Given the description of an element on the screen output the (x, y) to click on. 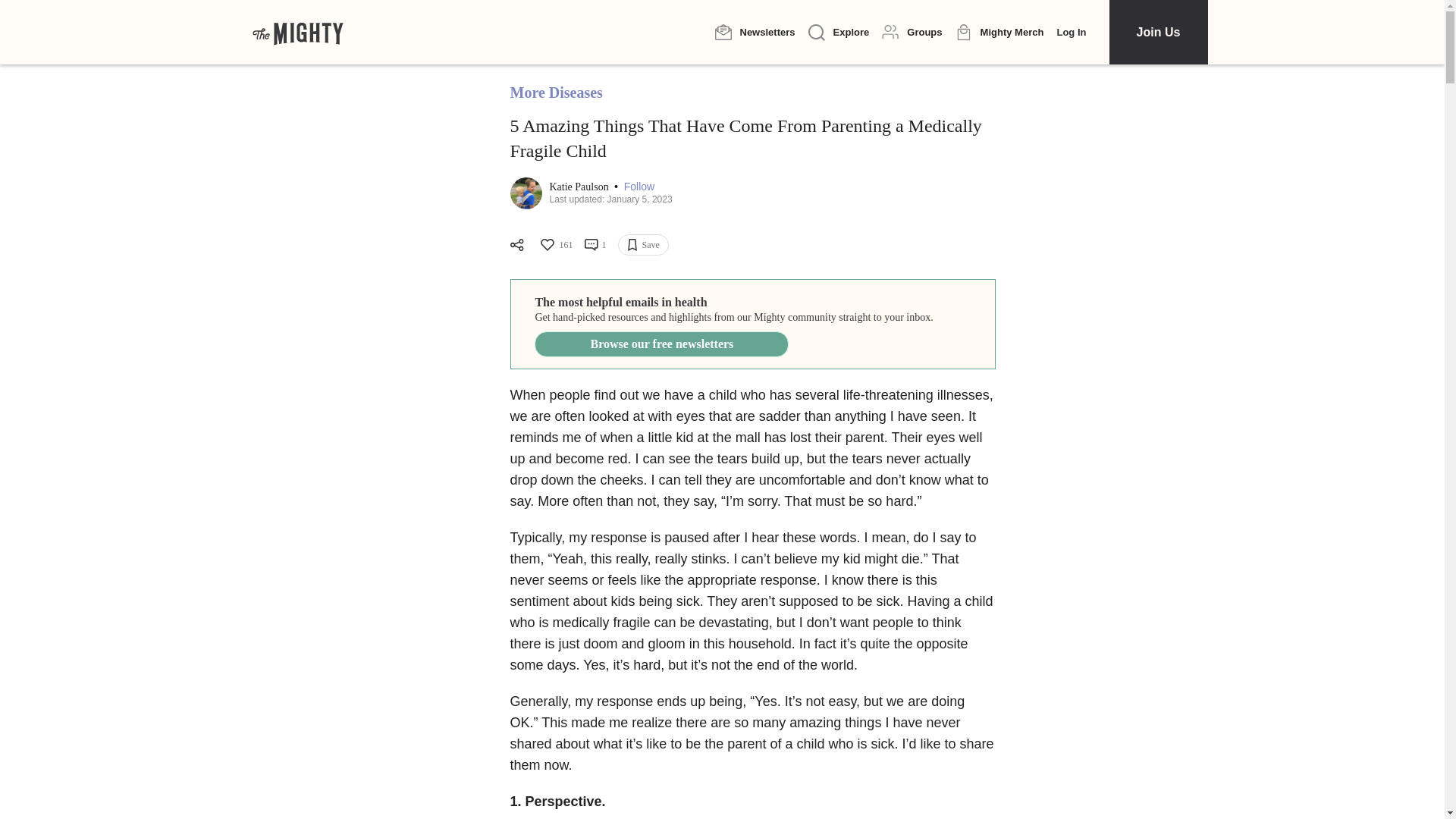
More Diseases (555, 92)
Join Us (1157, 32)
Groups (912, 32)
The Mighty (296, 32)
Explore (838, 32)
1 (594, 244)
Katie Paulson (579, 186)
Save (642, 244)
161 (555, 244)
Follow (638, 186)
Log In (1071, 31)
Browse our free newsletters (661, 344)
Newsletters (754, 31)
Mighty Merch (999, 32)
